Given the description of an element on the screen output the (x, y) to click on. 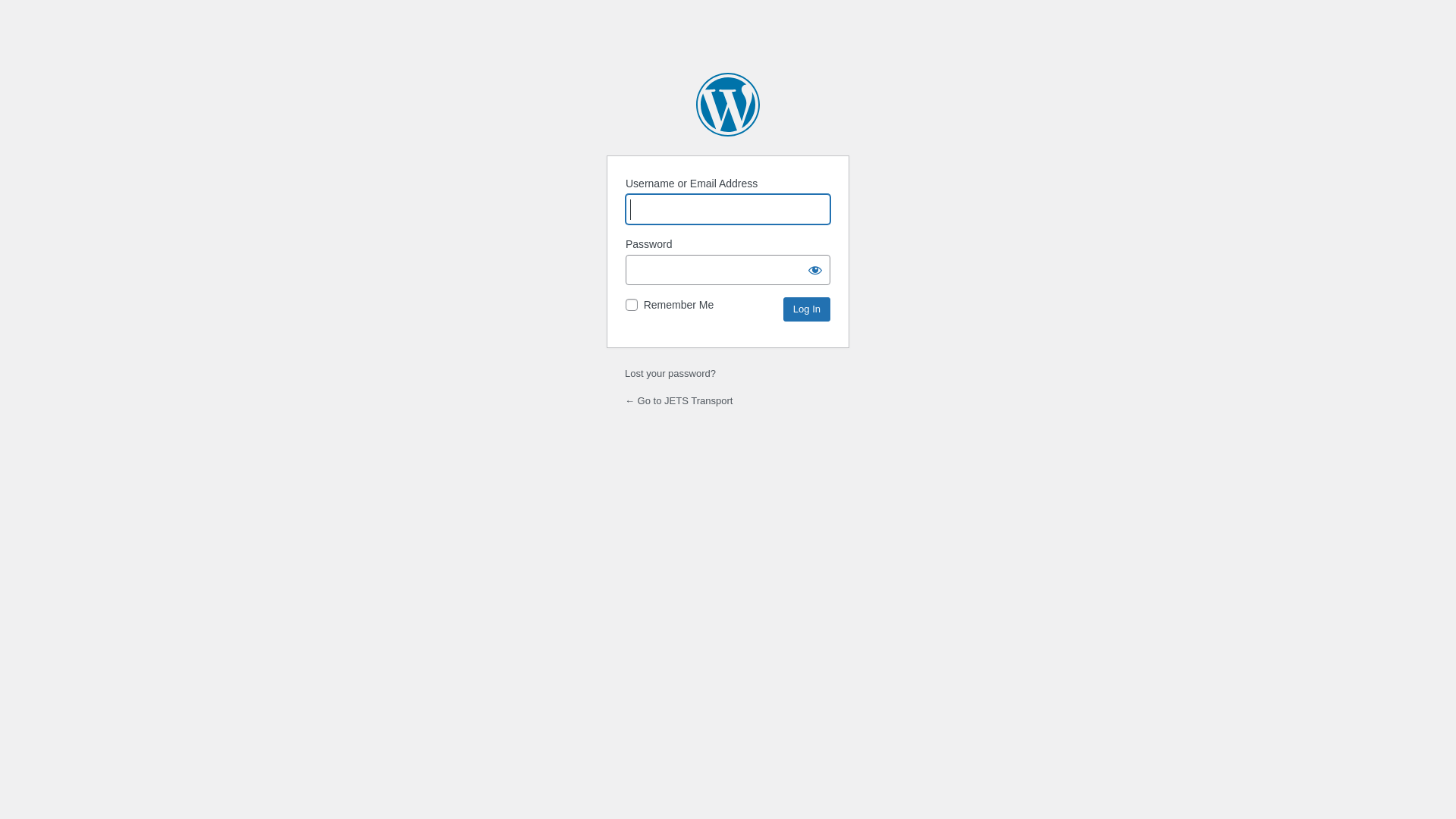
Lost your password? Element type: text (669, 373)
Powered by WordPress Element type: text (727, 104)
Log In Element type: text (806, 309)
